Given the description of an element on the screen output the (x, y) to click on. 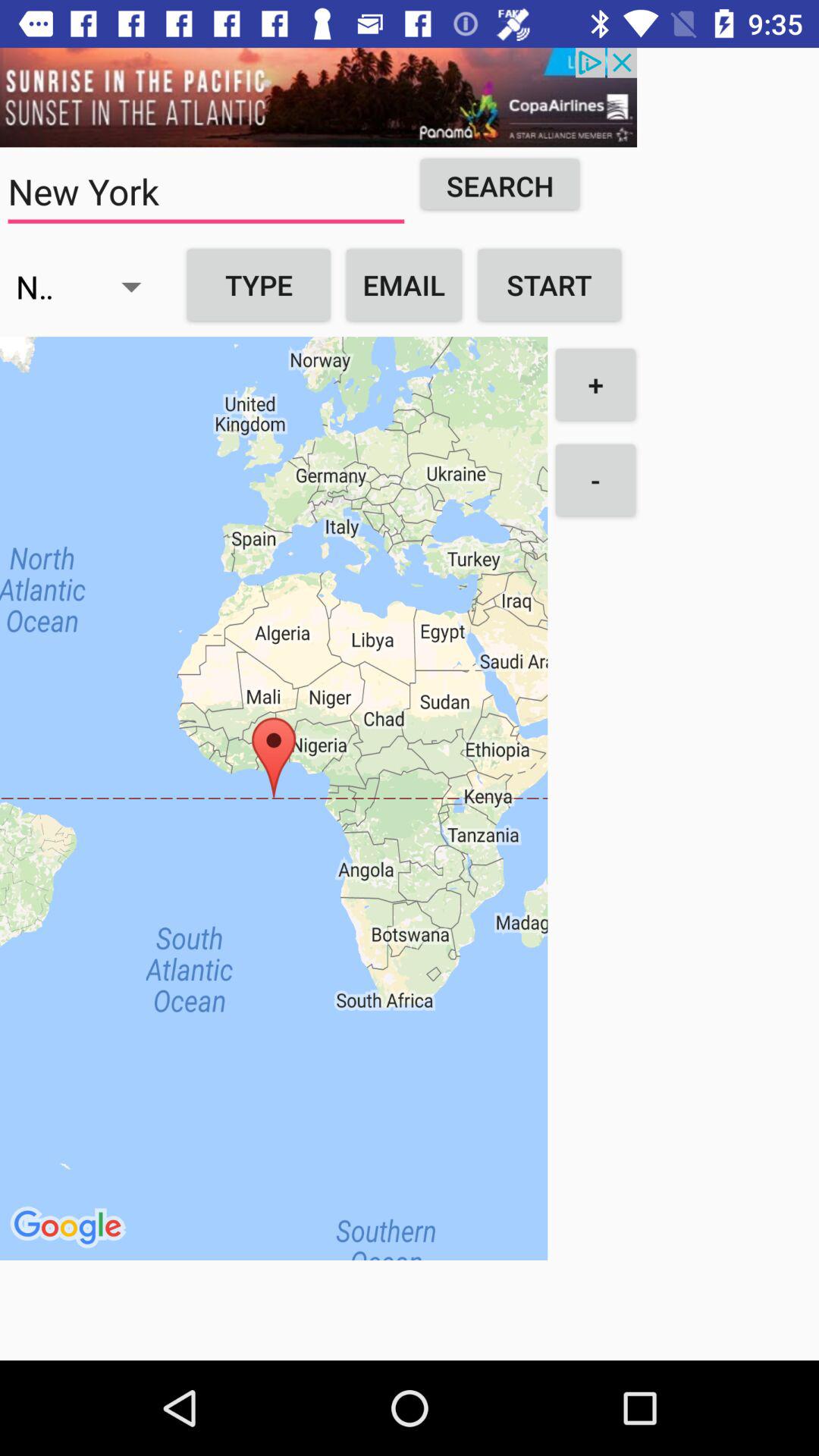
open advertisement (318, 97)
